Given the description of an element on the screen output the (x, y) to click on. 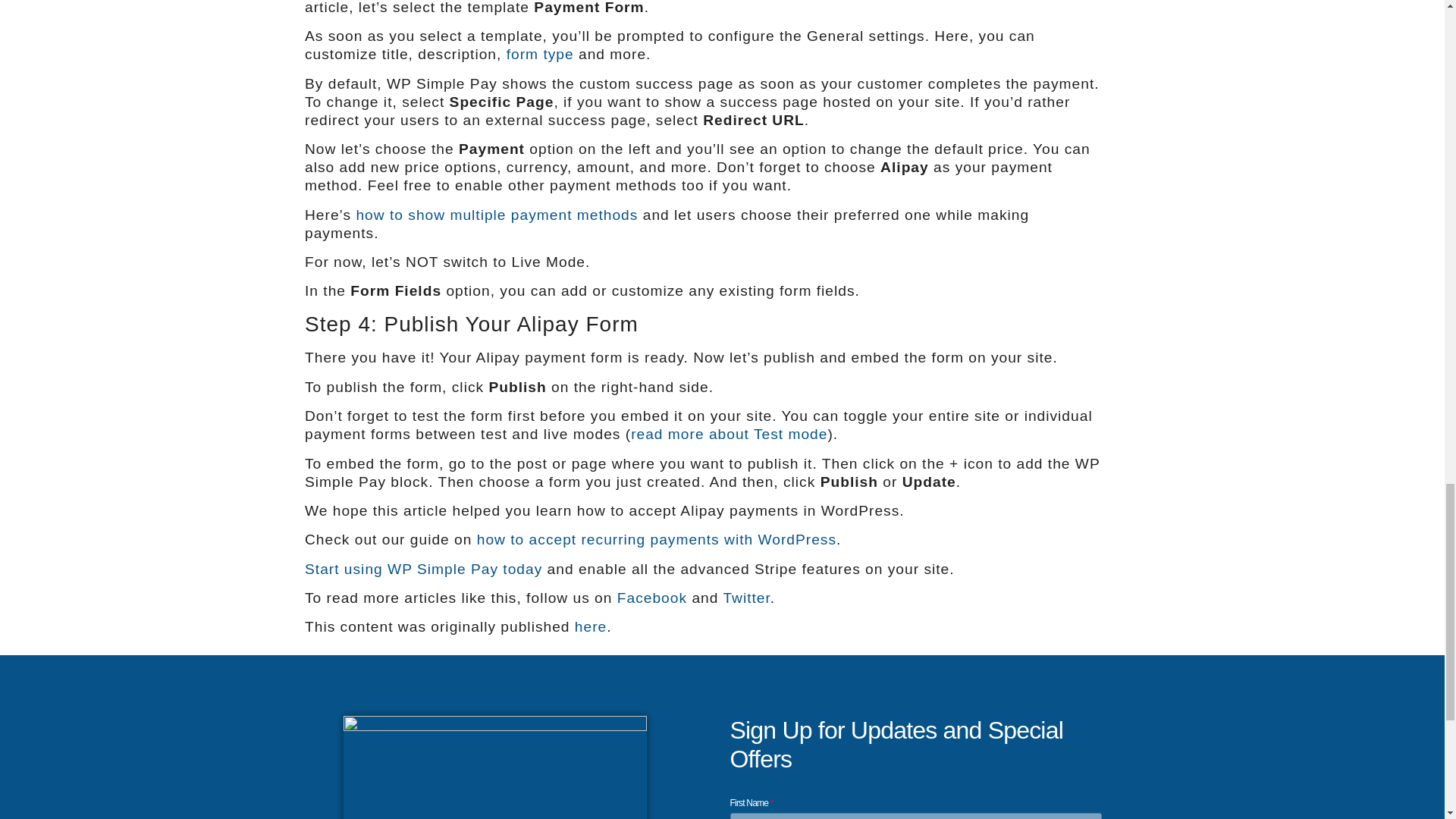
here (591, 626)
read more about Test mode (728, 433)
how to show multiple payment methods (496, 214)
How to Allow Users to Choose a Payment Method in WordPress (496, 214)
how to accept recurring payments with WordPress (656, 539)
Twitter (746, 597)
Start using WP Simple Pay today (422, 569)
Facebook (652, 597)
form type (539, 53)
Pricing (422, 569)
